Given the description of an element on the screen output the (x, y) to click on. 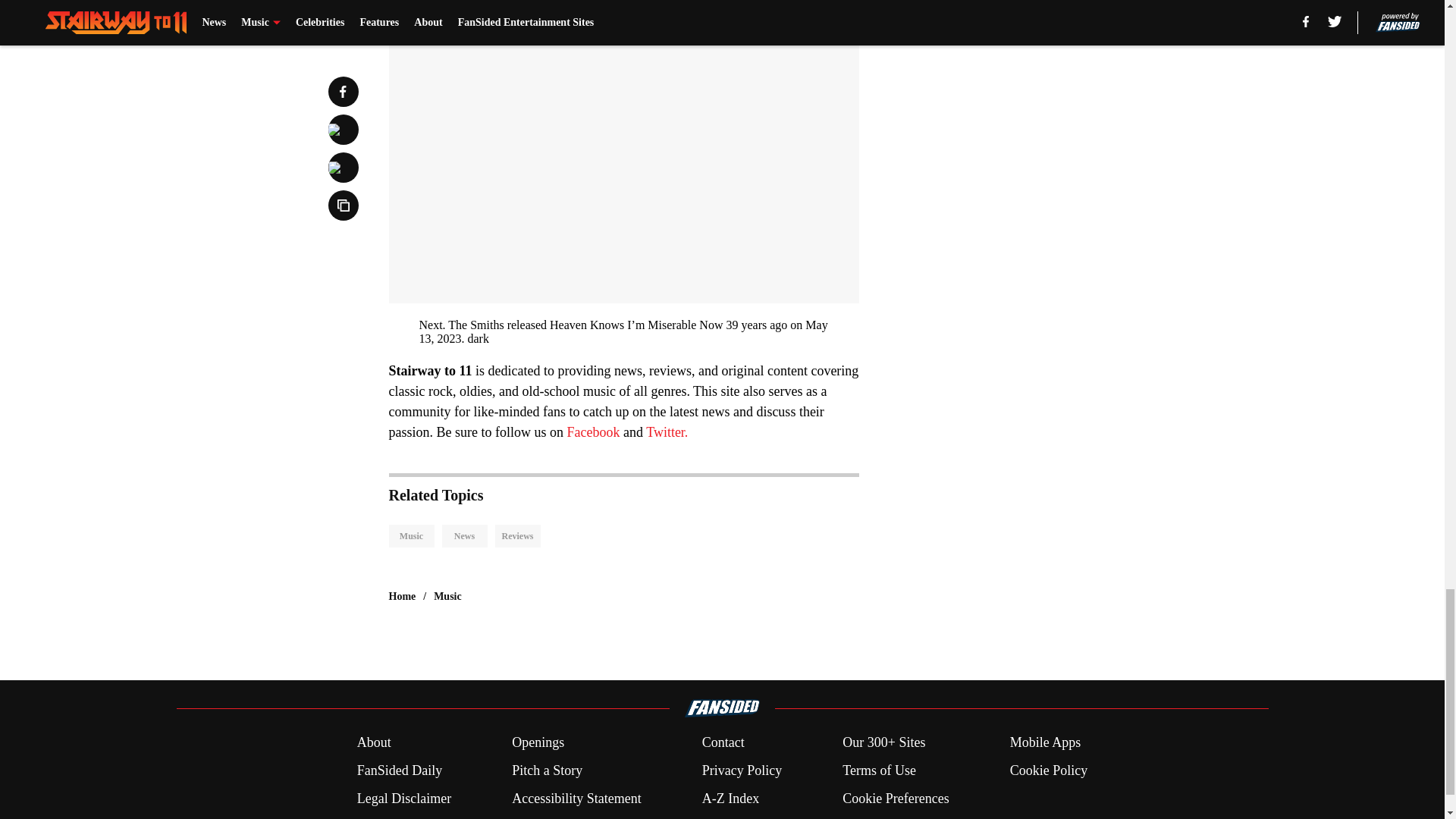
News (463, 535)
Facebook  (594, 432)
FanSided Daily (399, 770)
Contact (722, 742)
Reviews (517, 535)
Music (410, 535)
Openings (538, 742)
Privacy Policy (742, 770)
Twitter. (666, 432)
About (373, 742)
